Given the description of an element on the screen output the (x, y) to click on. 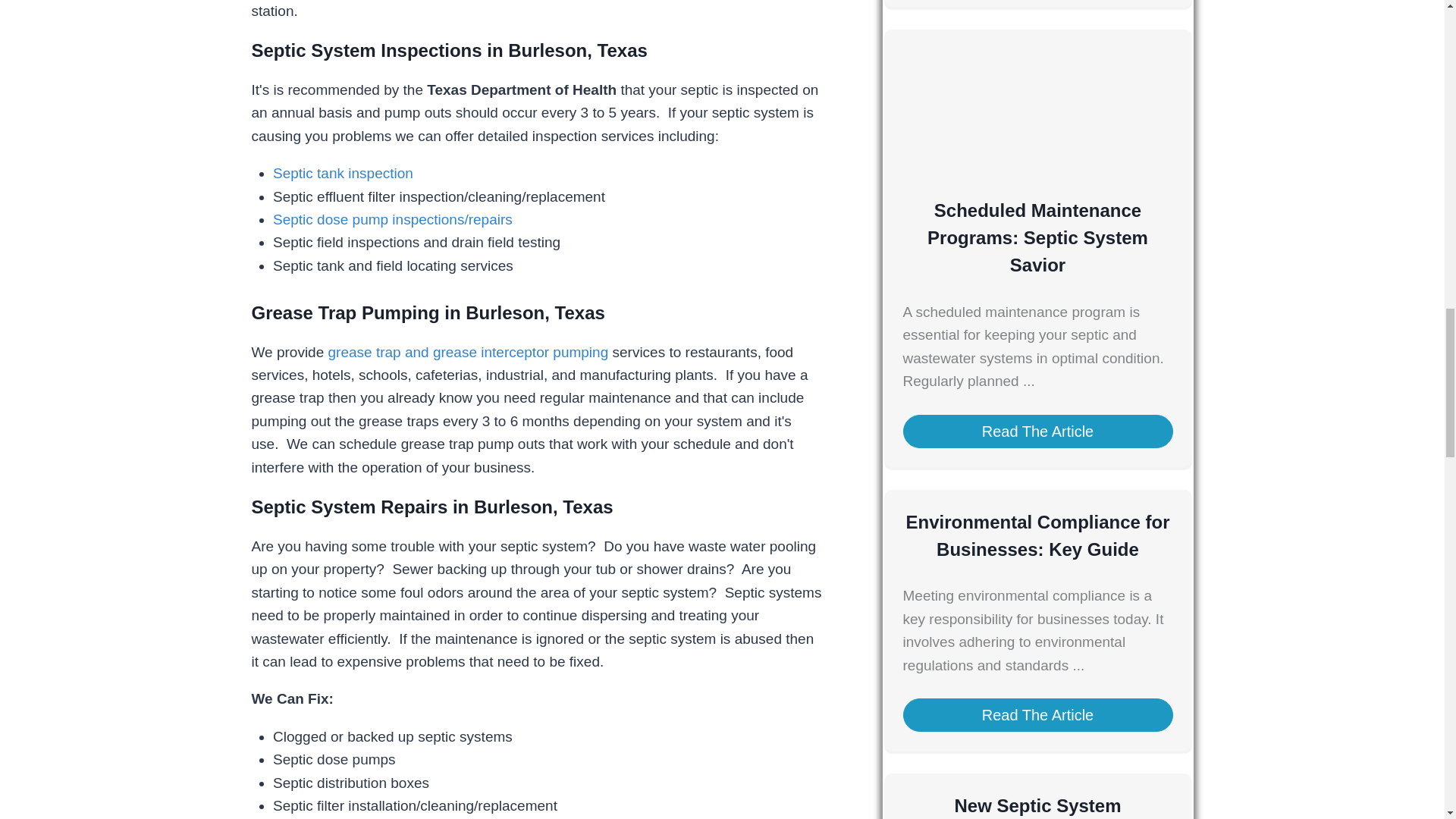
Environmental Compliance for Businesses: Key Guide (1037, 535)
Scheduled Maintenance Programs: Septic System Savior (1037, 237)
Scheduled Maintenance Programs: Septic System Savior (1037, 166)
Septic tank inspection (343, 172)
